Given the description of an element on the screen output the (x, y) to click on. 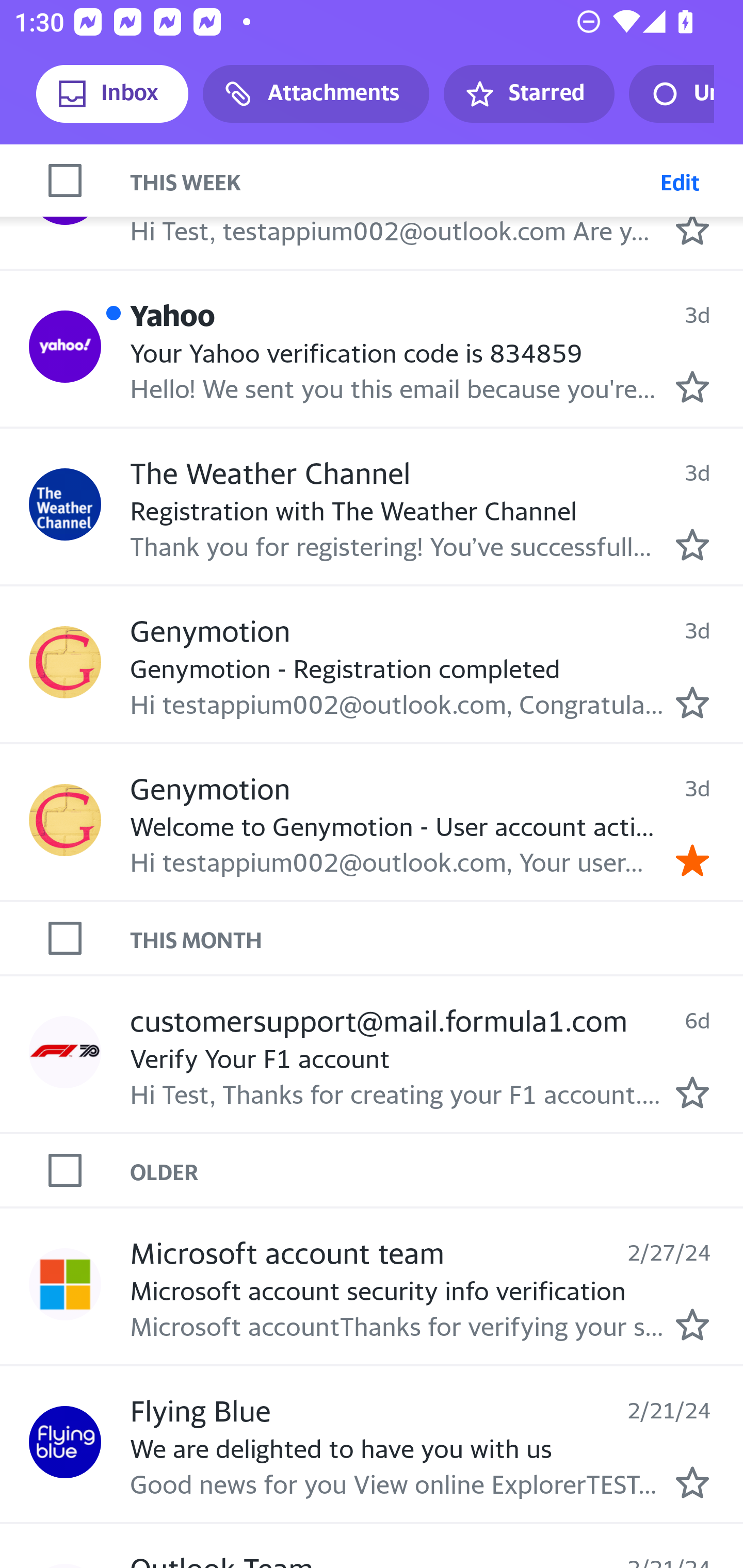
Attachments (315, 93)
Starred (528, 93)
Profile
Yahoo (64, 188)
Mark as starred. (692, 229)
Profile
Yahoo (64, 346)
Mark as starred. (692, 386)
Profile
The Weather Channel (64, 504)
Mark as starred. (692, 544)
Profile
Genymotion (64, 661)
Mark as starred. (692, 703)
Profile
Genymotion (64, 820)
Remove star. (692, 860)
THIS MONTH (436, 938)
Profile
customersupport@mail.formula1.com (64, 1052)
Mark as starred. (692, 1092)
OLDER (436, 1170)
Profile
Microsoft account team (64, 1284)
Mark as starred. (692, 1324)
Profile
Flying Blue (64, 1442)
Mark as starred. (692, 1482)
